Given the description of an element on the screen output the (x, y) to click on. 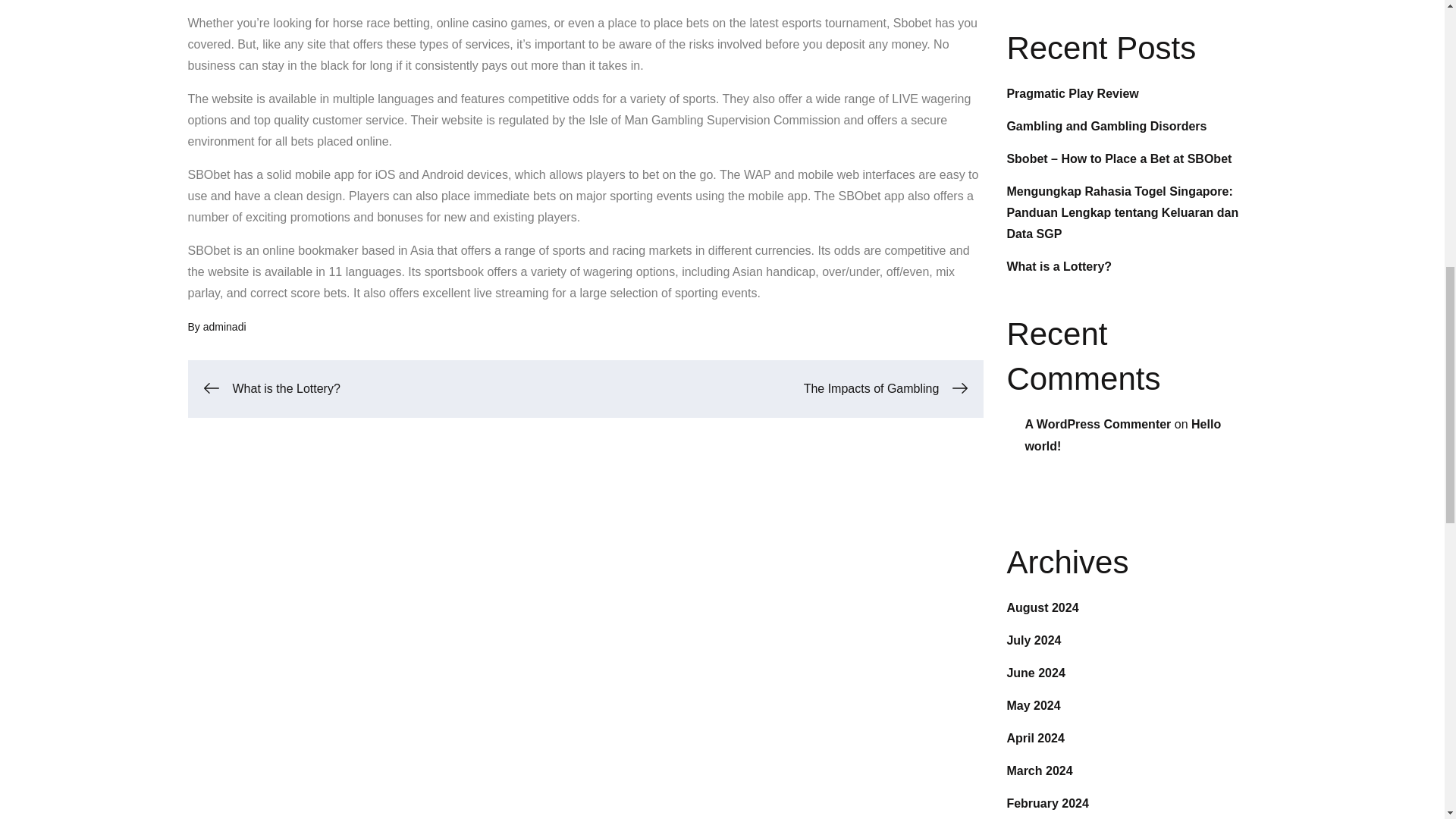
Hello world! (1123, 434)
August 2024 (1042, 607)
Gambling and Gambling Disorders (1106, 125)
A WordPress Commenter (1097, 423)
March 2024 (1038, 770)
adminadi (224, 326)
February 2024 (1047, 802)
April 2024 (1035, 738)
July 2024 (1033, 640)
June 2024 (1035, 672)
Pragmatic Play Review (1072, 92)
May 2024 (1032, 705)
What is a Lottery? (1059, 266)
